Given the description of an element on the screen output the (x, y) to click on. 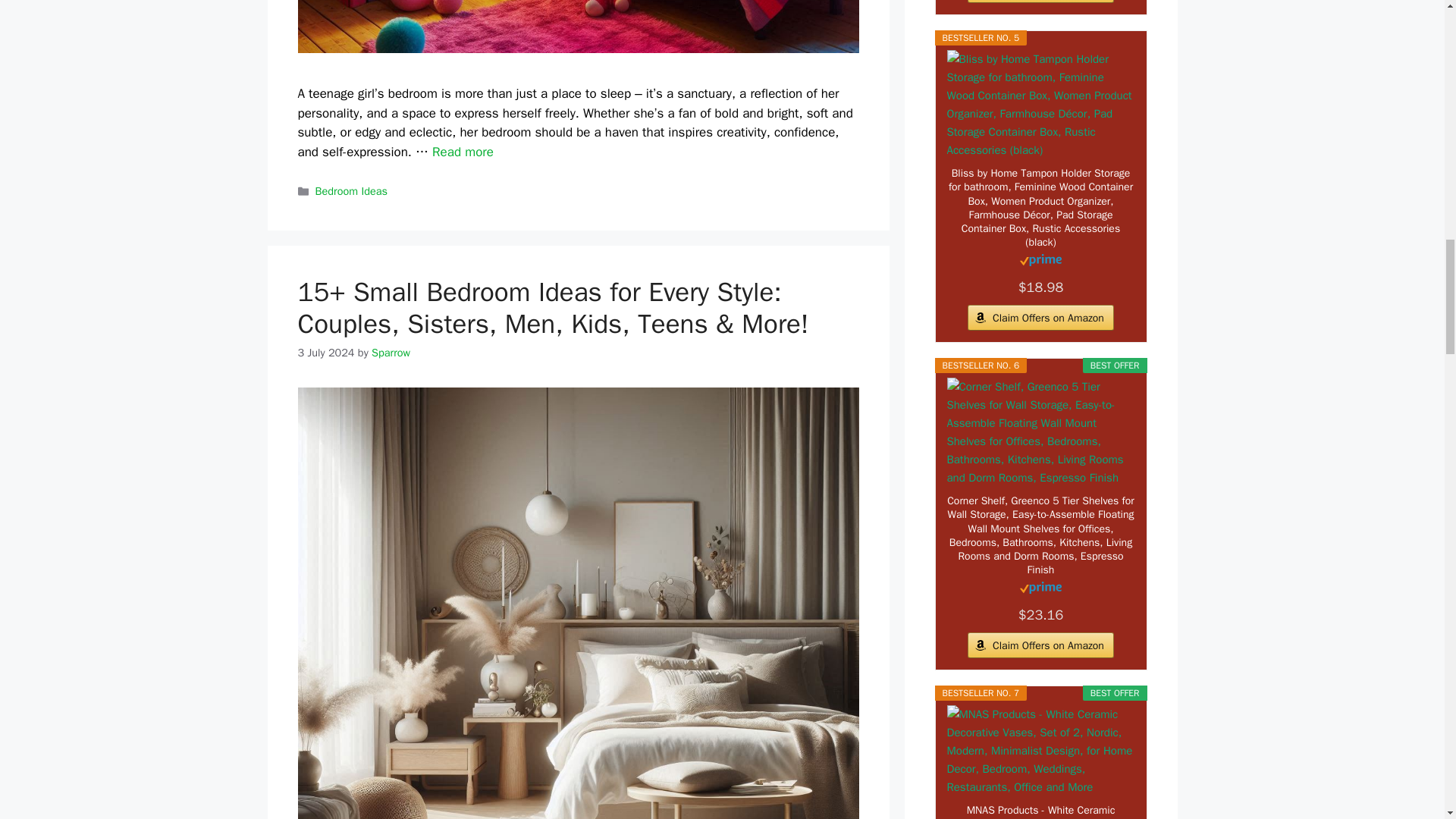
Bedroom Ideas (351, 191)
Sparrow (390, 352)
View all posts by Sparrow (390, 352)
Read more (462, 151)
